Given the description of an element on the screen output the (x, y) to click on. 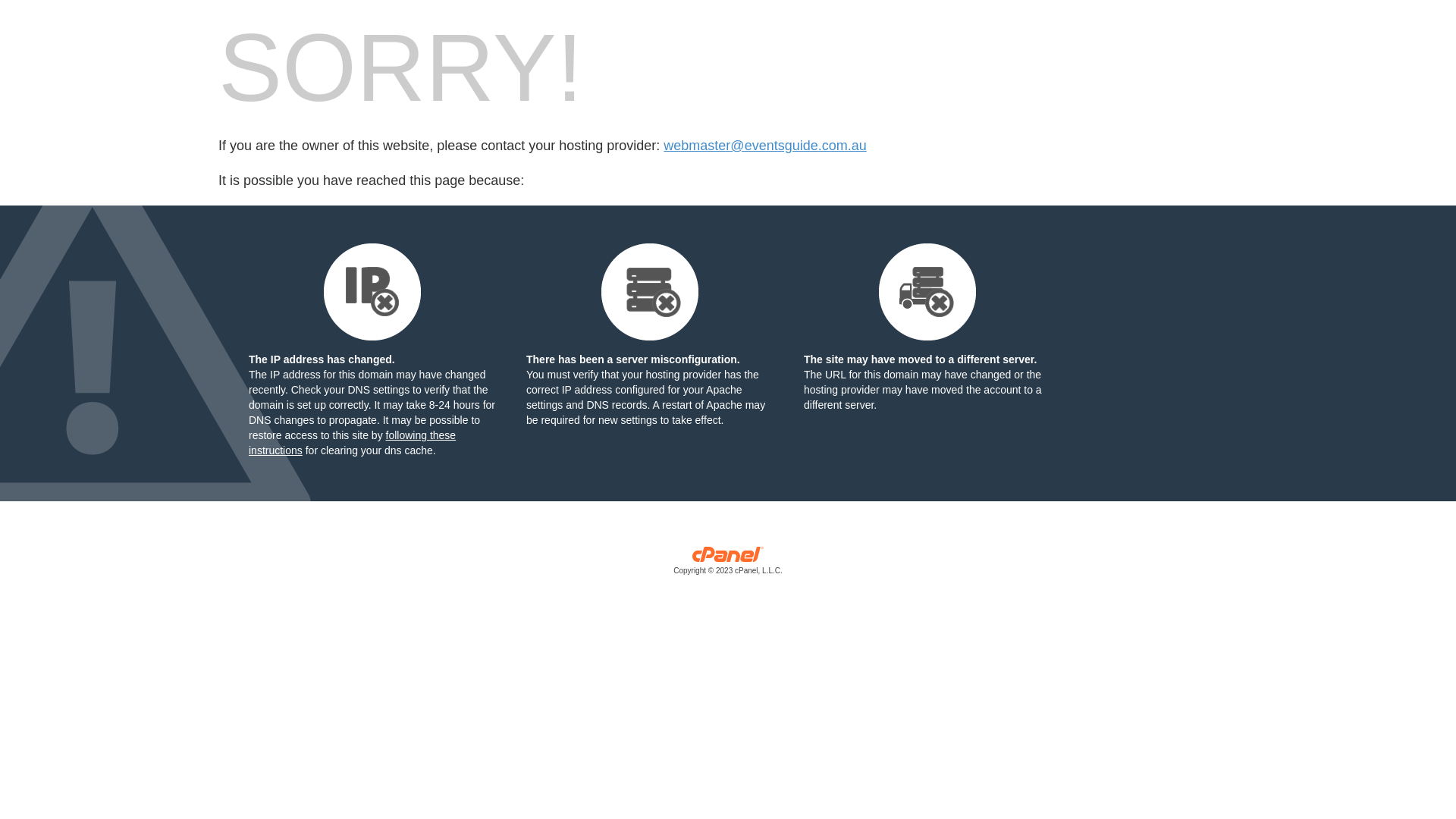
following these instructions Element type: text (351, 442)
webmaster@eventsguide.com.au Element type: text (764, 145)
